Given the description of an element on the screen output the (x, y) to click on. 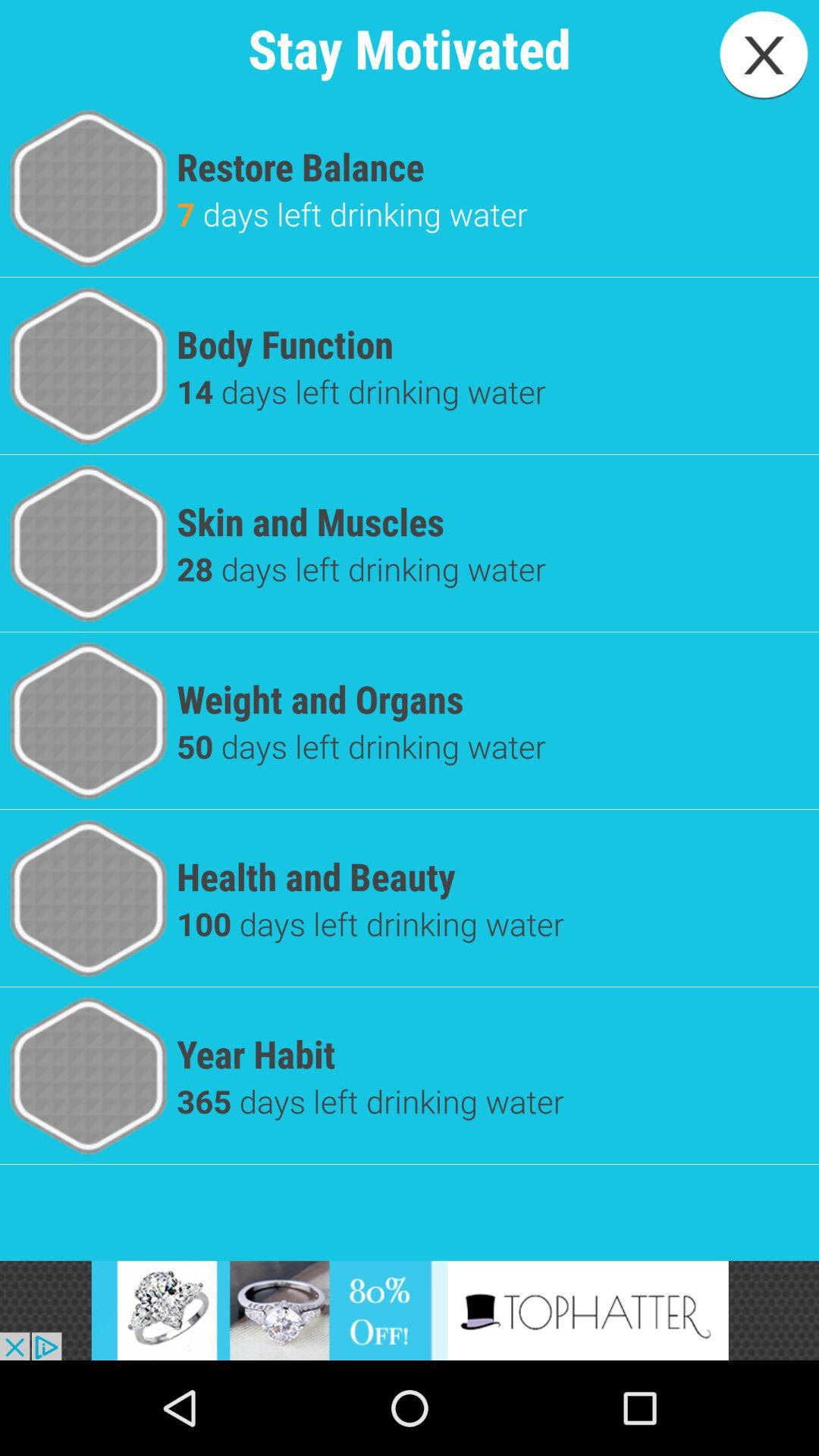
more information about an advertisement (409, 1310)
